Given the description of an element on the screen output the (x, y) to click on. 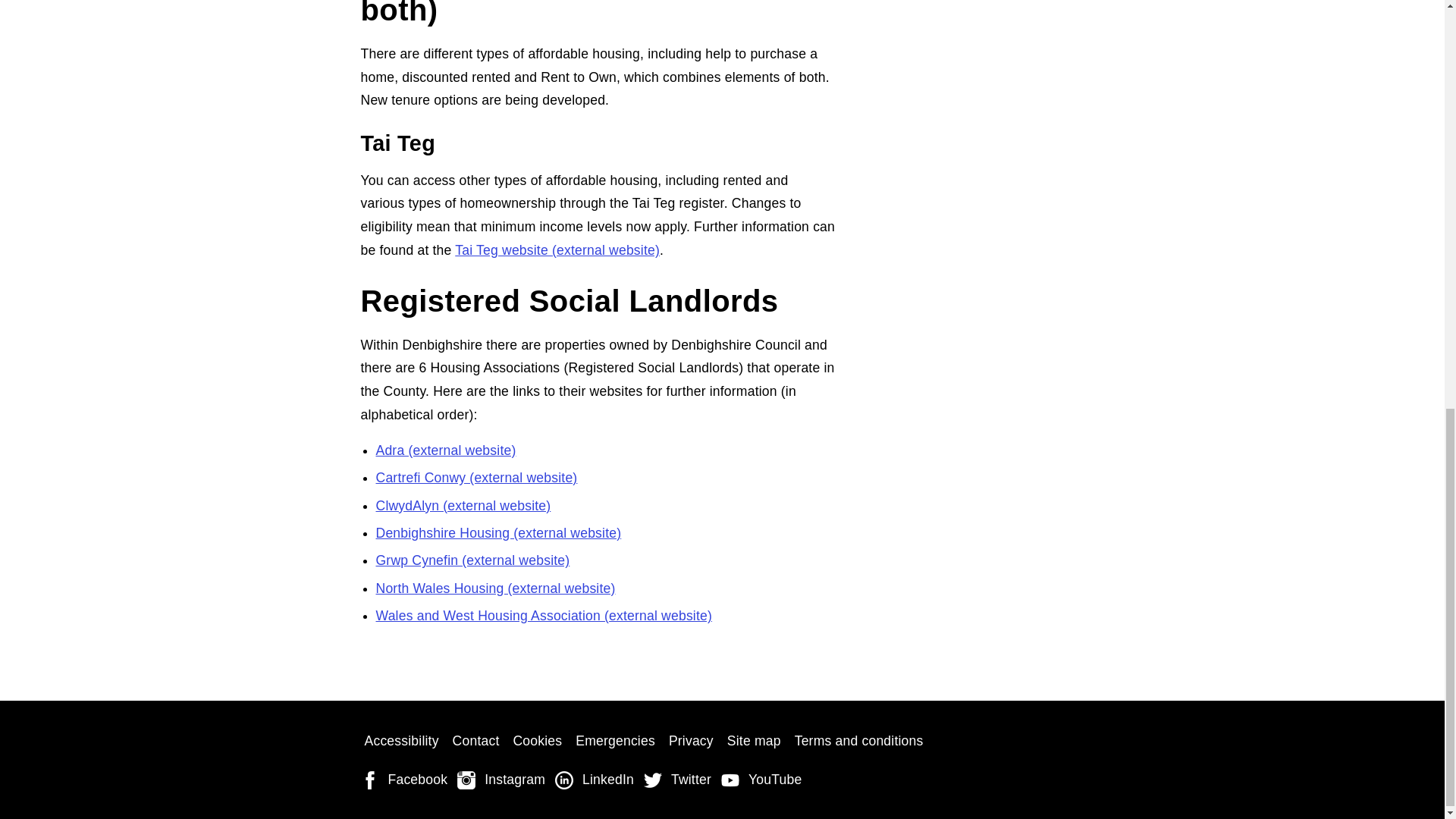
Instagram (502, 780)
YouTube (762, 780)
Site map (753, 741)
Accessibility (401, 741)
Terms and conditions (858, 741)
Contact (475, 741)
Emergencies (615, 741)
LinkedIn (595, 780)
Facebook (406, 780)
Cookies (537, 741)
Twitter (678, 780)
Privacy (691, 741)
